Given the description of an element on the screen output the (x, y) to click on. 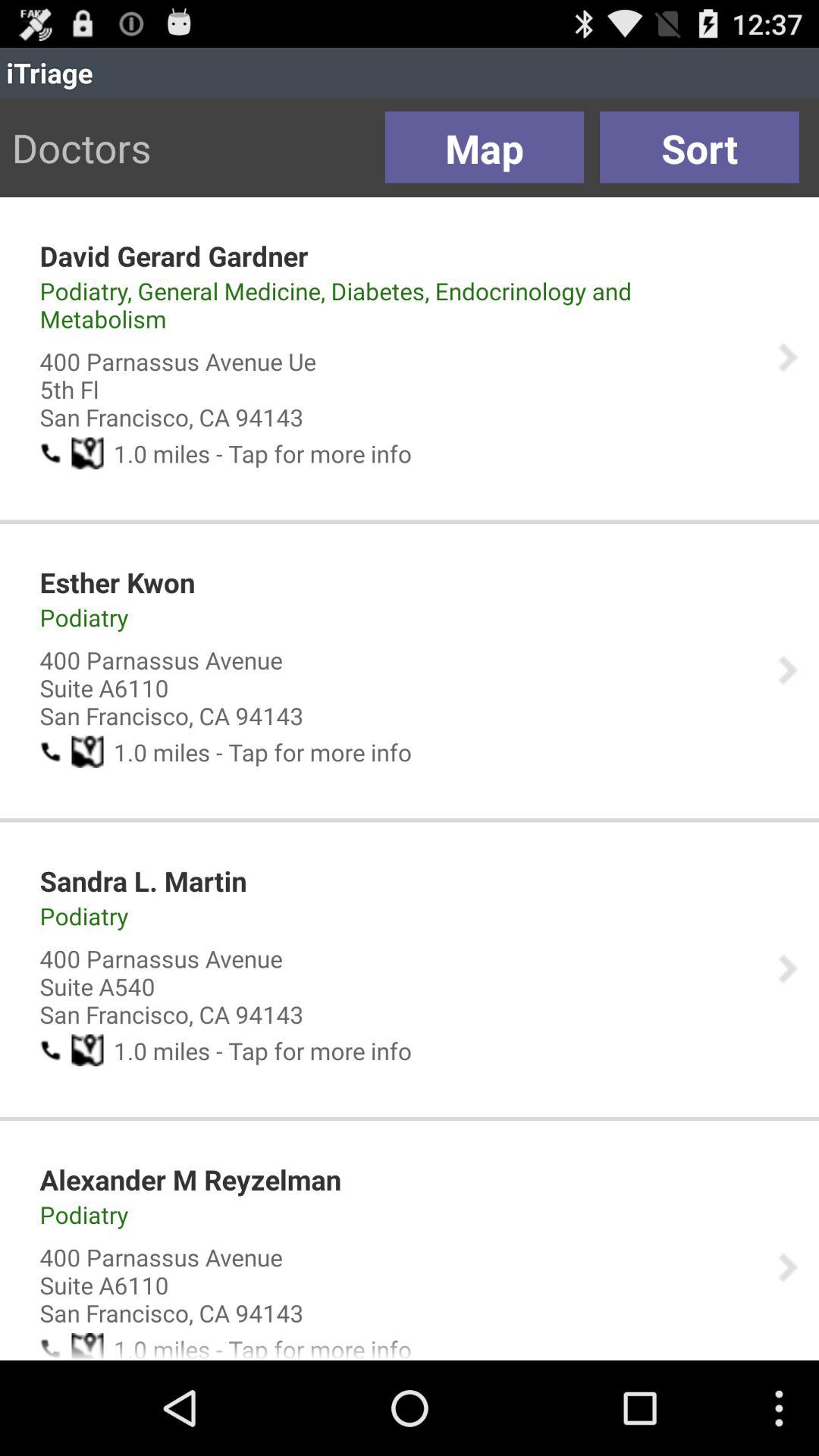
flip until the david gerard gardner item (173, 255)
